Given the description of an element on the screen output the (x, y) to click on. 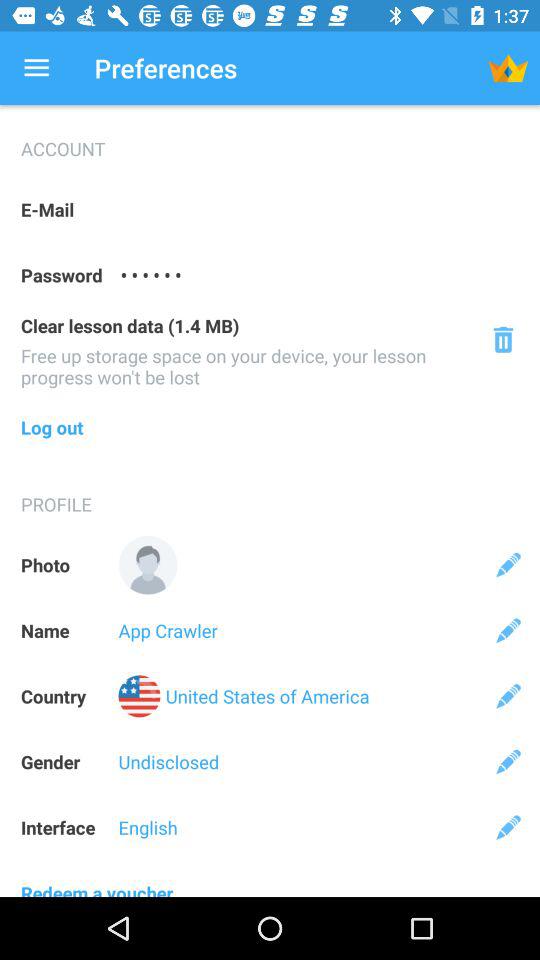
turn on the icon next to english icon (508, 827)
